Given the description of an element on the screen output the (x, y) to click on. 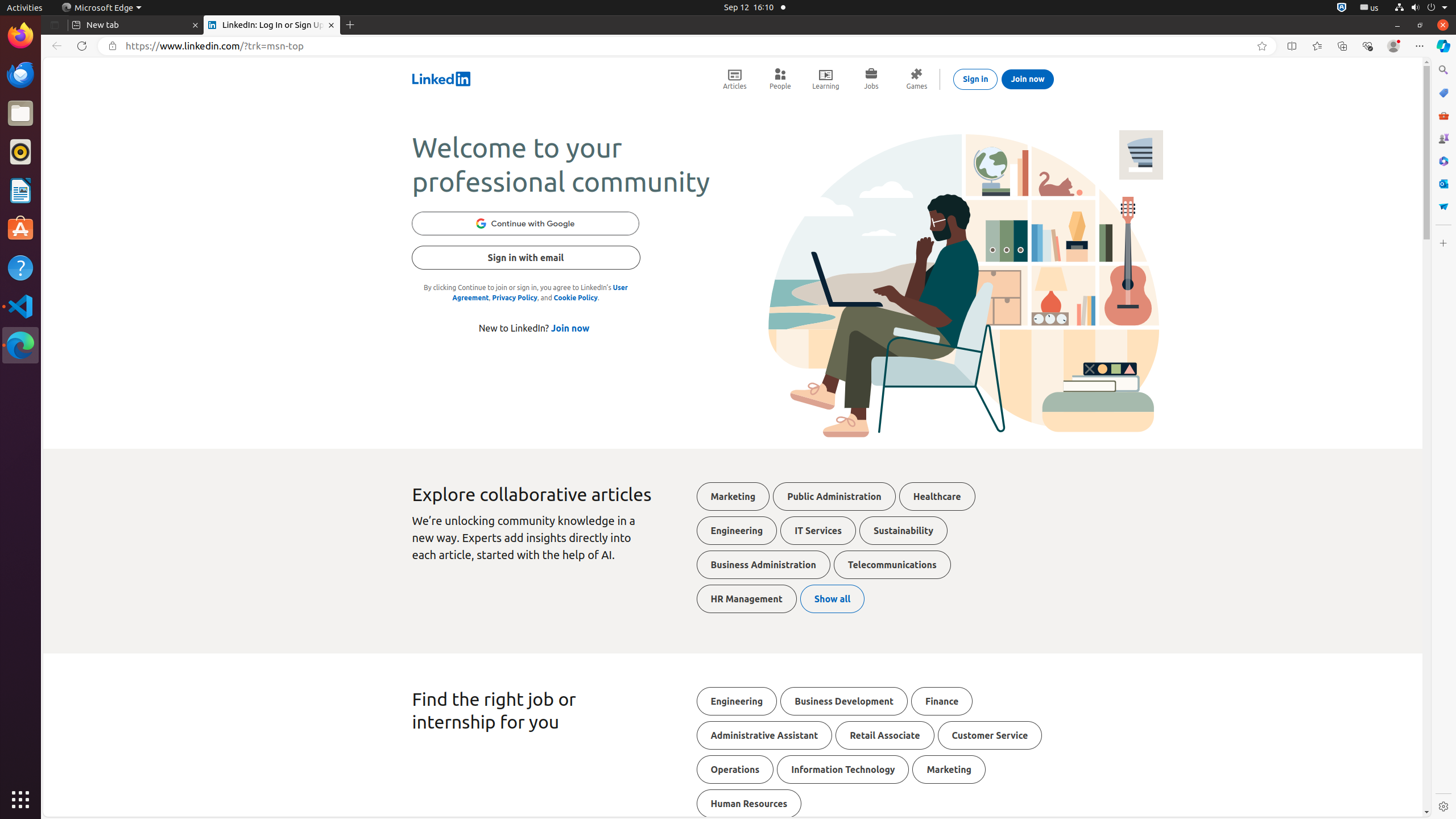
Microsoft 365 Element type: push-button (1443, 160)
Drop Element type: push-button (1443, 206)
Collections Element type: push-button (1341, 45)
Sustainability Element type: link (902, 530)
Favorites Element type: push-button (1316, 45)
